Given the description of an element on the screen output the (x, y) to click on. 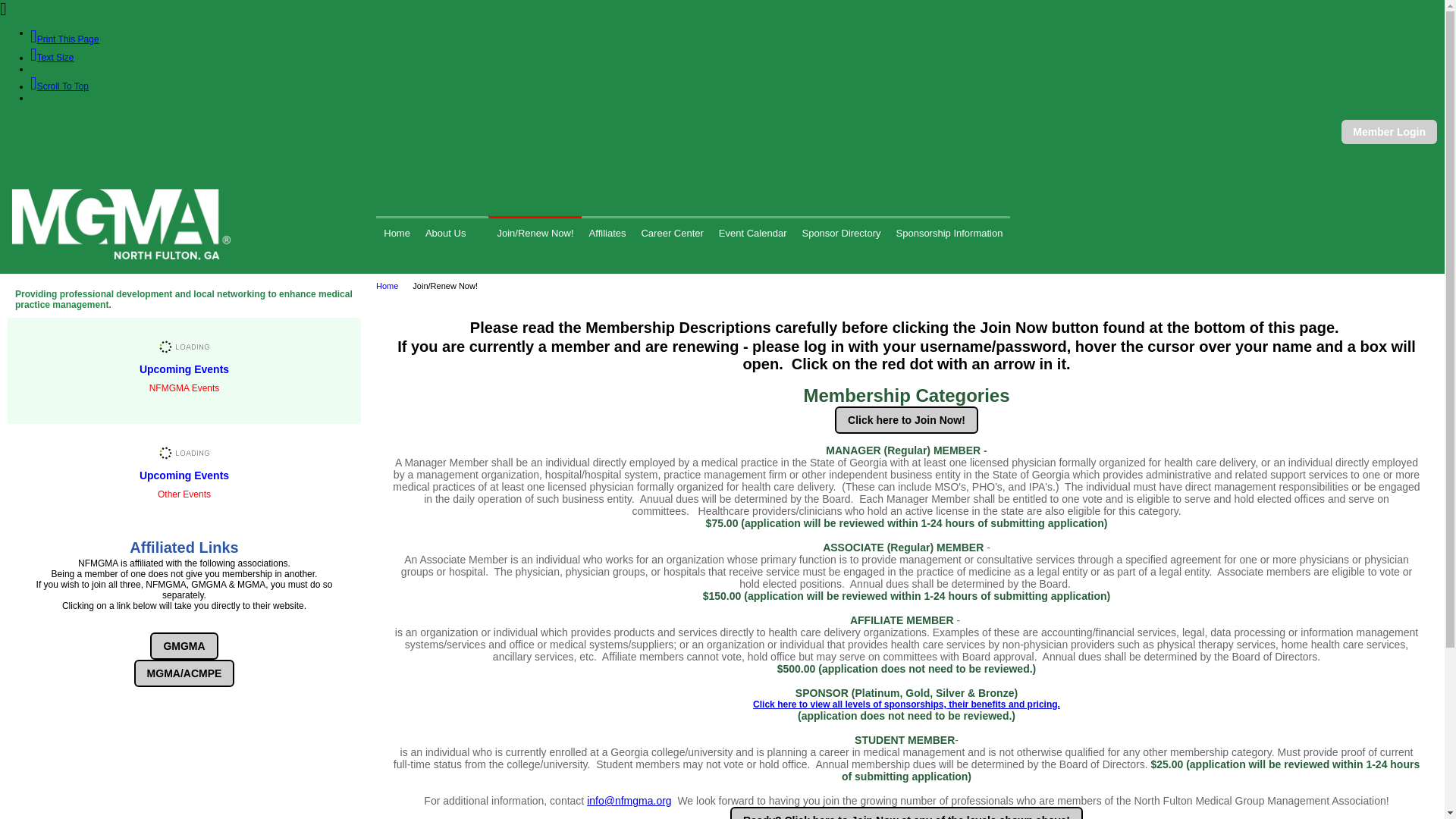
Visit us on Facebook (39, 128)
Go To Top (59, 86)
Affiliates (606, 232)
Sponsorship Information (949, 232)
Career Center (671, 232)
Click here for more sharing options (61, 128)
Sponsor Directory (840, 232)
Home (396, 232)
Member Login (1388, 131)
Text Size (52, 57)
NFMGMA Events (183, 370)
Other Events (183, 476)
GMGMA (182, 646)
